Given the description of an element on the screen output the (x, y) to click on. 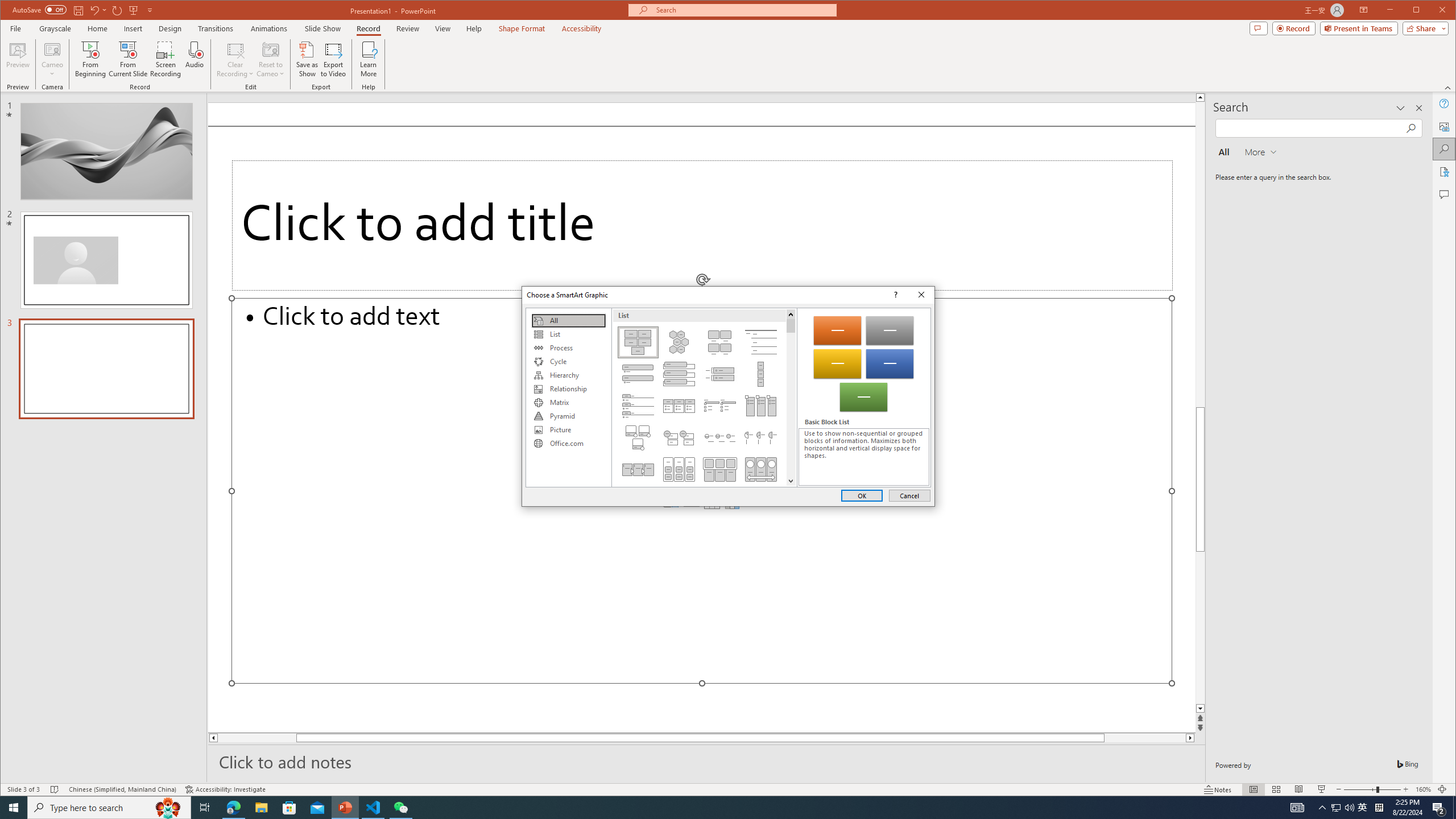
All (568, 320)
Alternating Hexagons (678, 342)
Office.com (568, 443)
Vertical Bullet List (637, 373)
